Given the description of an element on the screen output the (x, y) to click on. 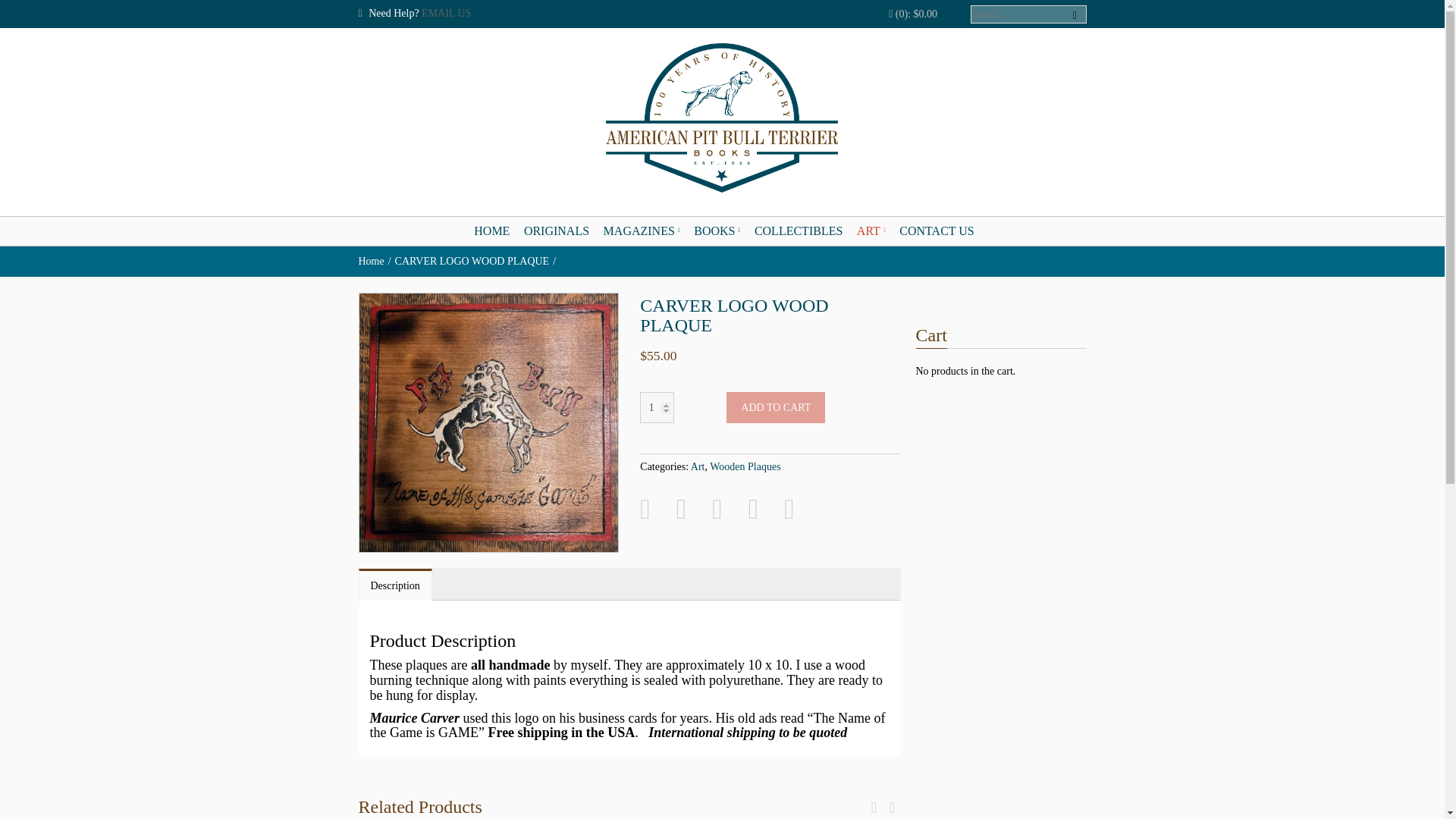
EMAIL US (446, 12)
ART (871, 231)
BOOKS (716, 231)
Description (394, 585)
HOME (491, 231)
APBT Books (721, 117)
1 (657, 407)
View your shopping cart (912, 13)
Home (376, 260)
Wooden Plaques (745, 466)
COLLECTIBLES (798, 231)
ORIGINALS (556, 231)
Art (697, 466)
CONTACT US (936, 231)
CARVER LOGO WOOD PLAQUE (476, 260)
